Given the description of an element on the screen output the (x, y) to click on. 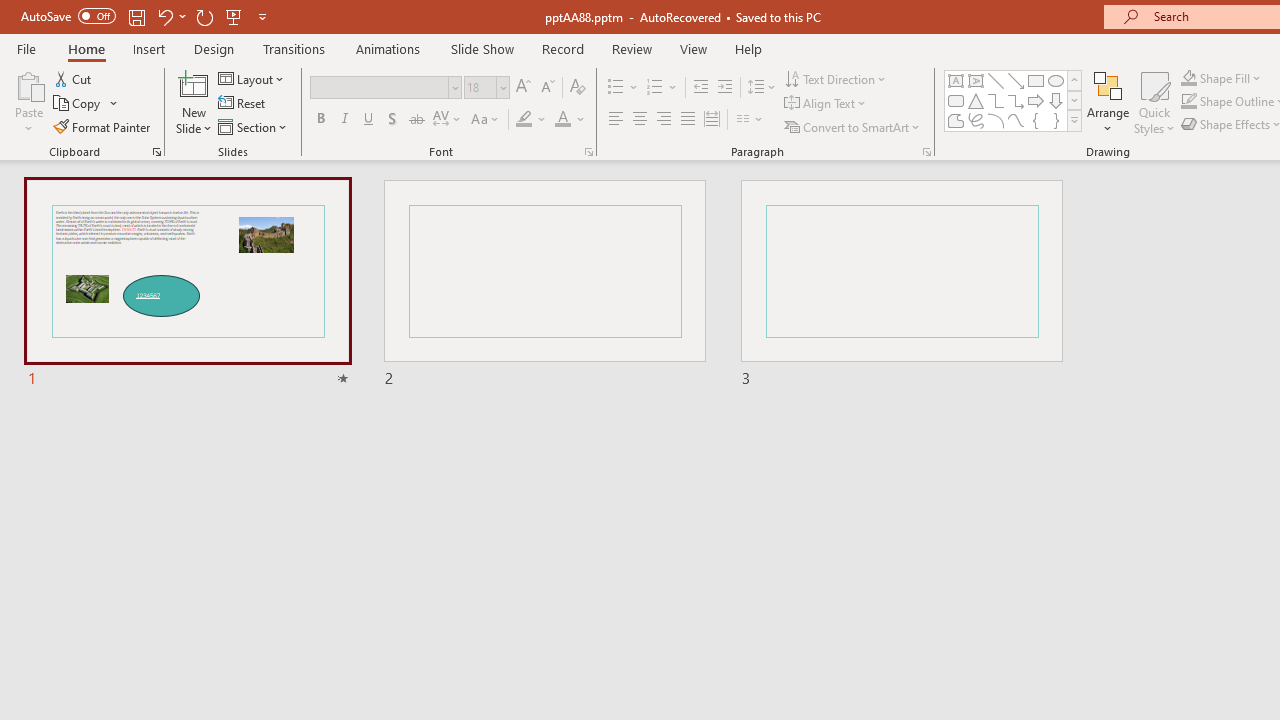
Freeform: Scribble (975, 120)
Arc (995, 120)
Shape Fill Aqua, Accent 2 (1188, 78)
Line Arrow (1016, 80)
Font Size (480, 87)
Save (136, 15)
Font Color (569, 119)
Line (995, 80)
Shape Outline Teal, Accent 1 (1188, 101)
Justify (687, 119)
